Given the description of an element on the screen output the (x, y) to click on. 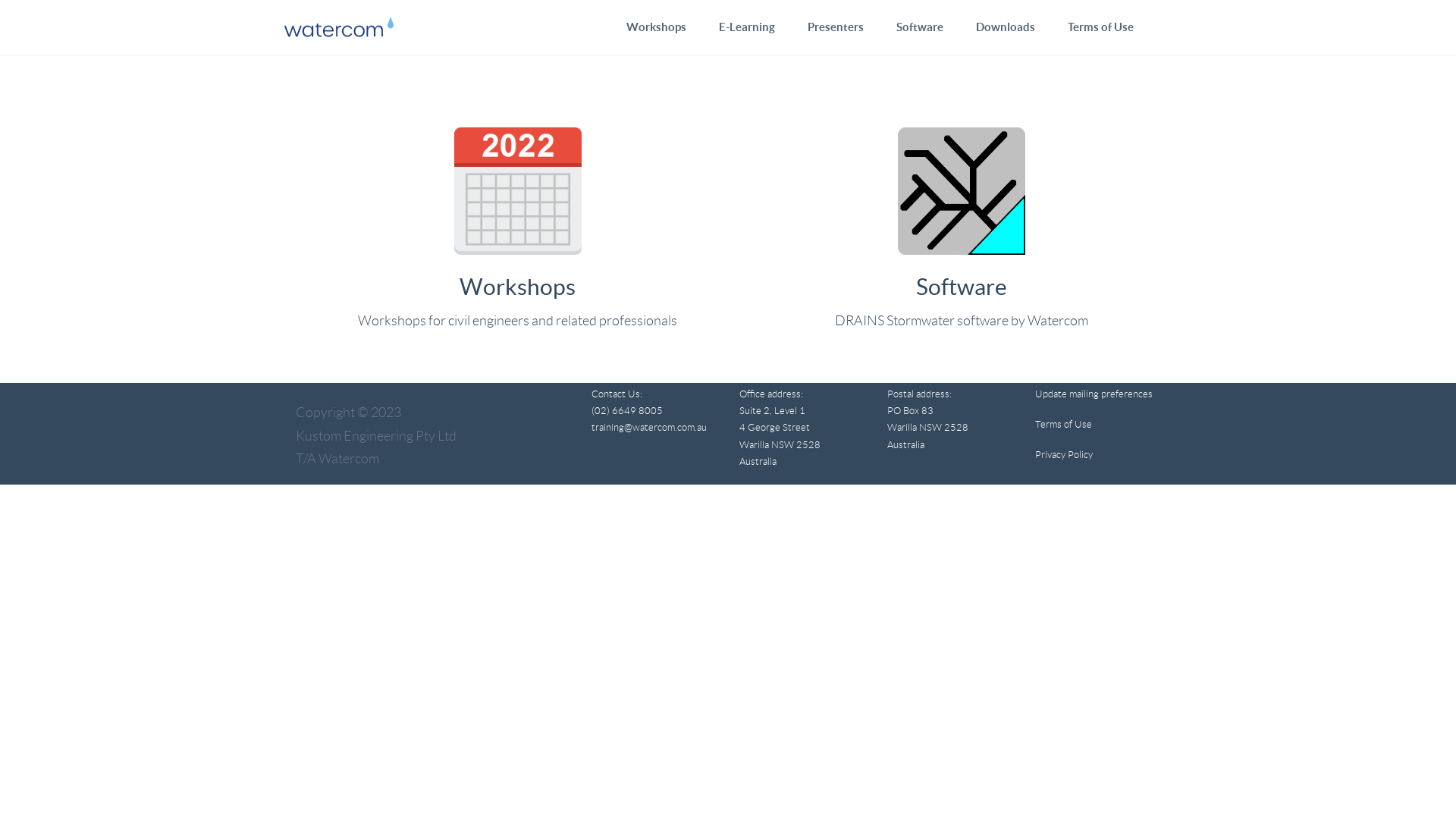
Software
DRAINS Stormwater software by Watercom Element type: text (960, 234)
Workshops Element type: text (656, 27)
training@watercom.com.au Element type: text (648, 427)
Suite 2, Level 1
4 George Street
Warilla NSW 2528
Australia Element type: text (779, 435)
Downloads Element type: text (1005, 27)
Presenters Element type: text (835, 27)
Software Element type: text (919, 27)
Terms of Use Element type: text (1063, 423)
(02) 6649 8005 Element type: text (626, 410)
Privacy Policy Element type: text (1063, 454)
Terms of Use Element type: text (1100, 27)
E-Learning Element type: text (746, 27)
Update mailing preferences Element type: text (1093, 393)
